Given the description of an element on the screen output the (x, y) to click on. 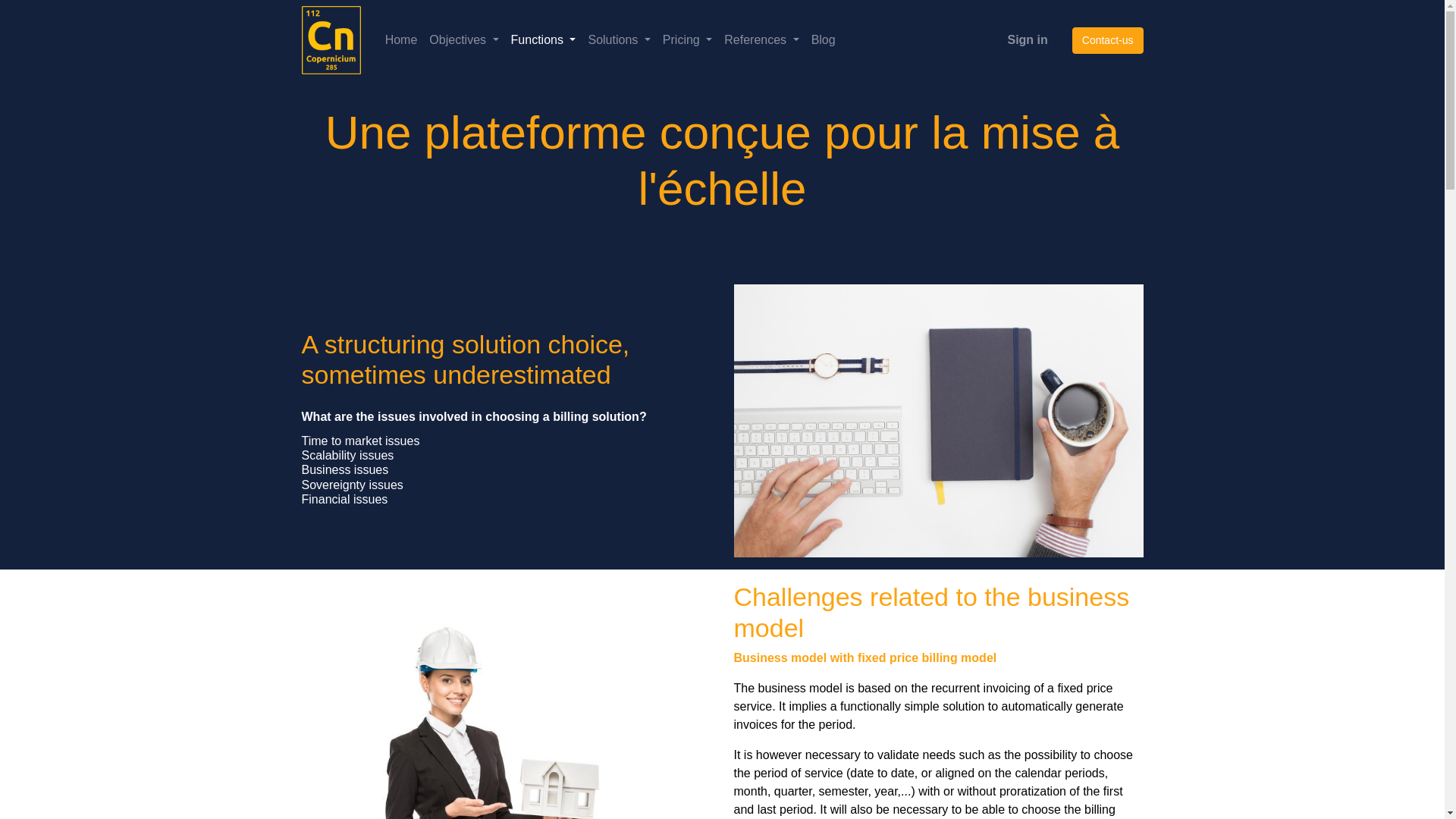
Pricing (686, 40)
Blog (823, 40)
Home (400, 40)
Solutions (618, 40)
Functions (543, 40)
Objectives (463, 40)
Contact-us (1106, 40)
Sign in (1026, 40)
References (761, 40)
